Given the description of an element on the screen output the (x, y) to click on. 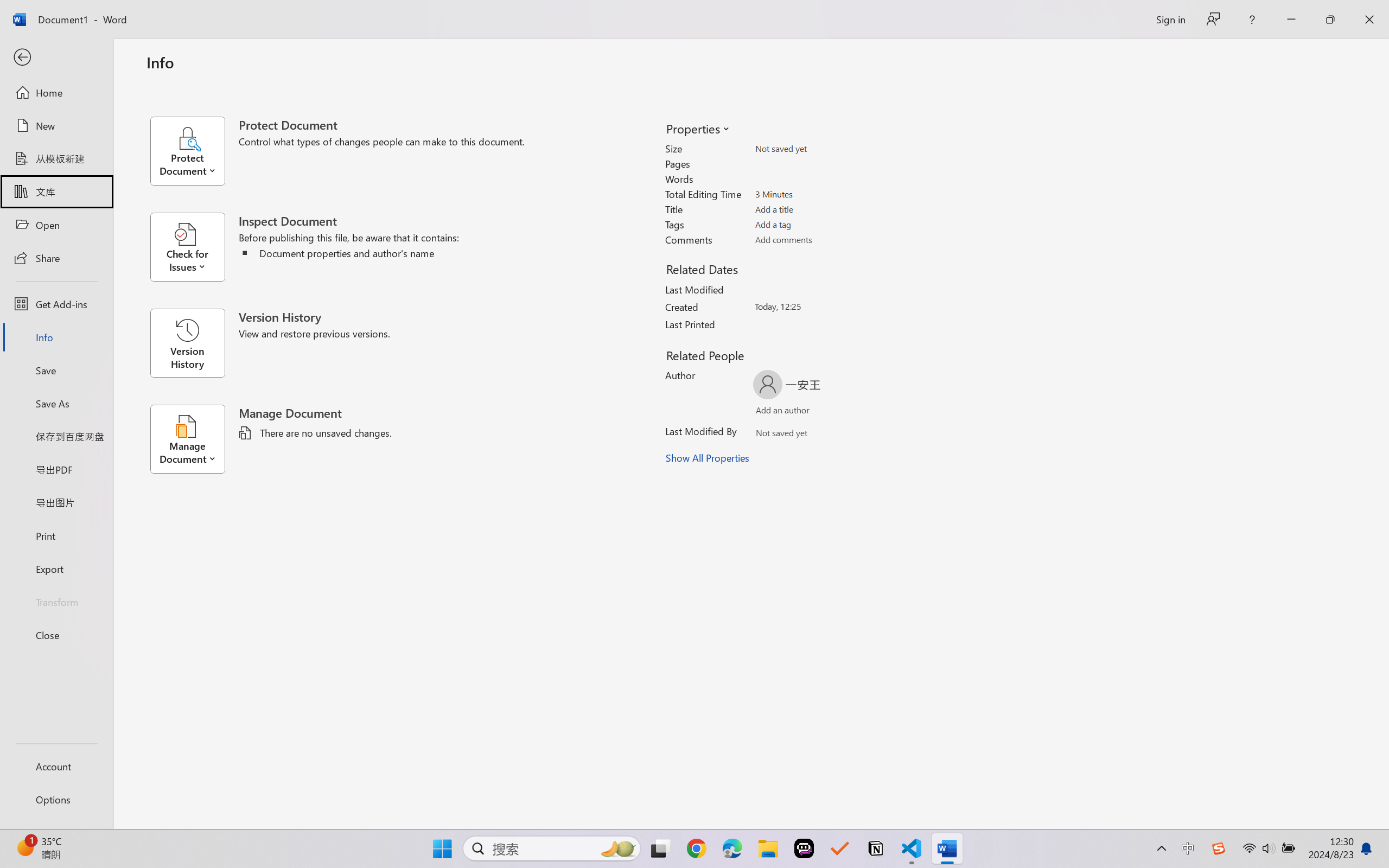
Verify Names (802, 434)
Export (56, 568)
Save As (56, 403)
Version History (187, 343)
